Given the description of an element on the screen output the (x, y) to click on. 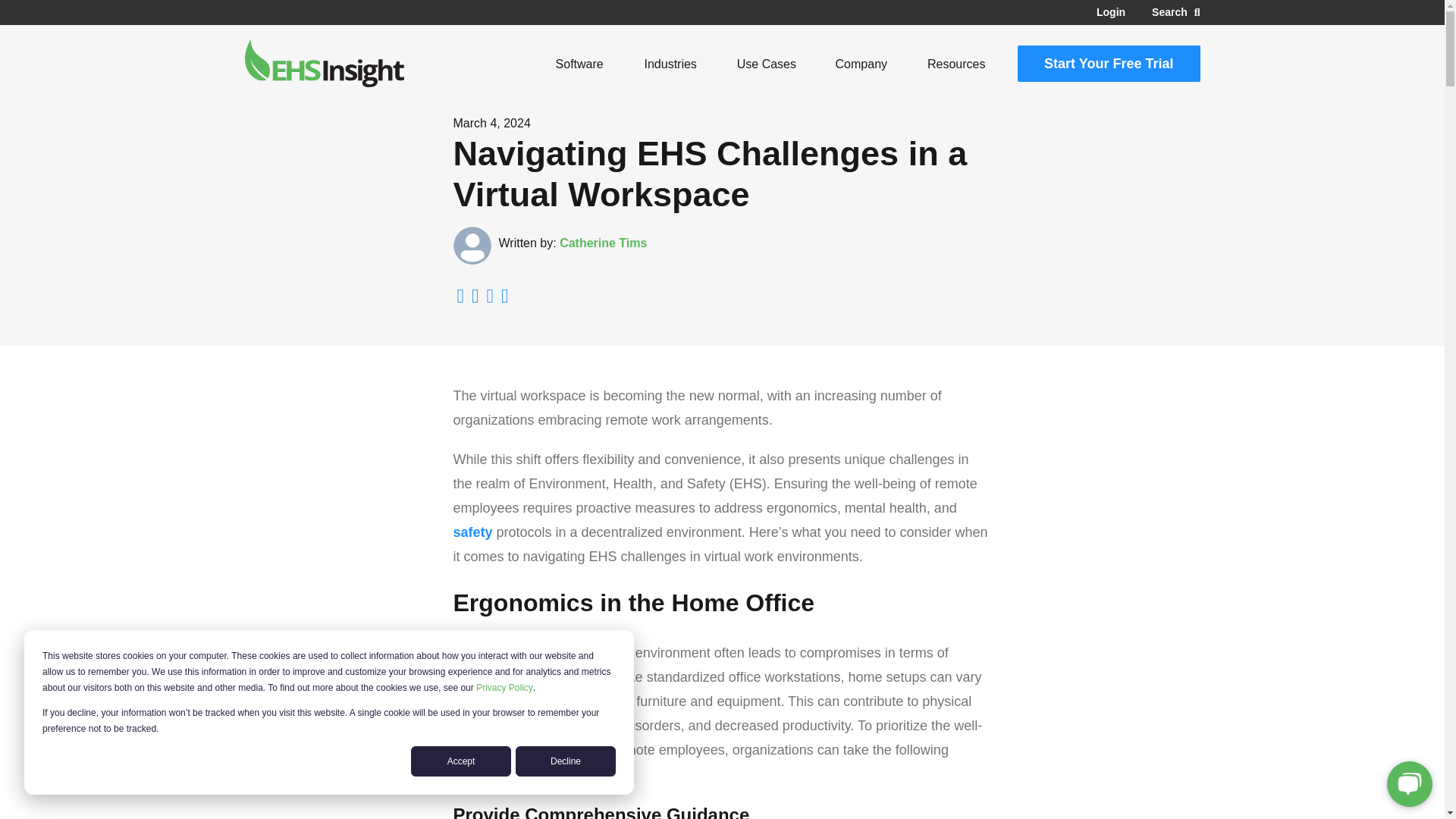
Start Your Free Trial (1108, 63)
Industries (670, 64)
Login (1110, 12)
Software (579, 64)
